Given the description of an element on the screen output the (x, y) to click on. 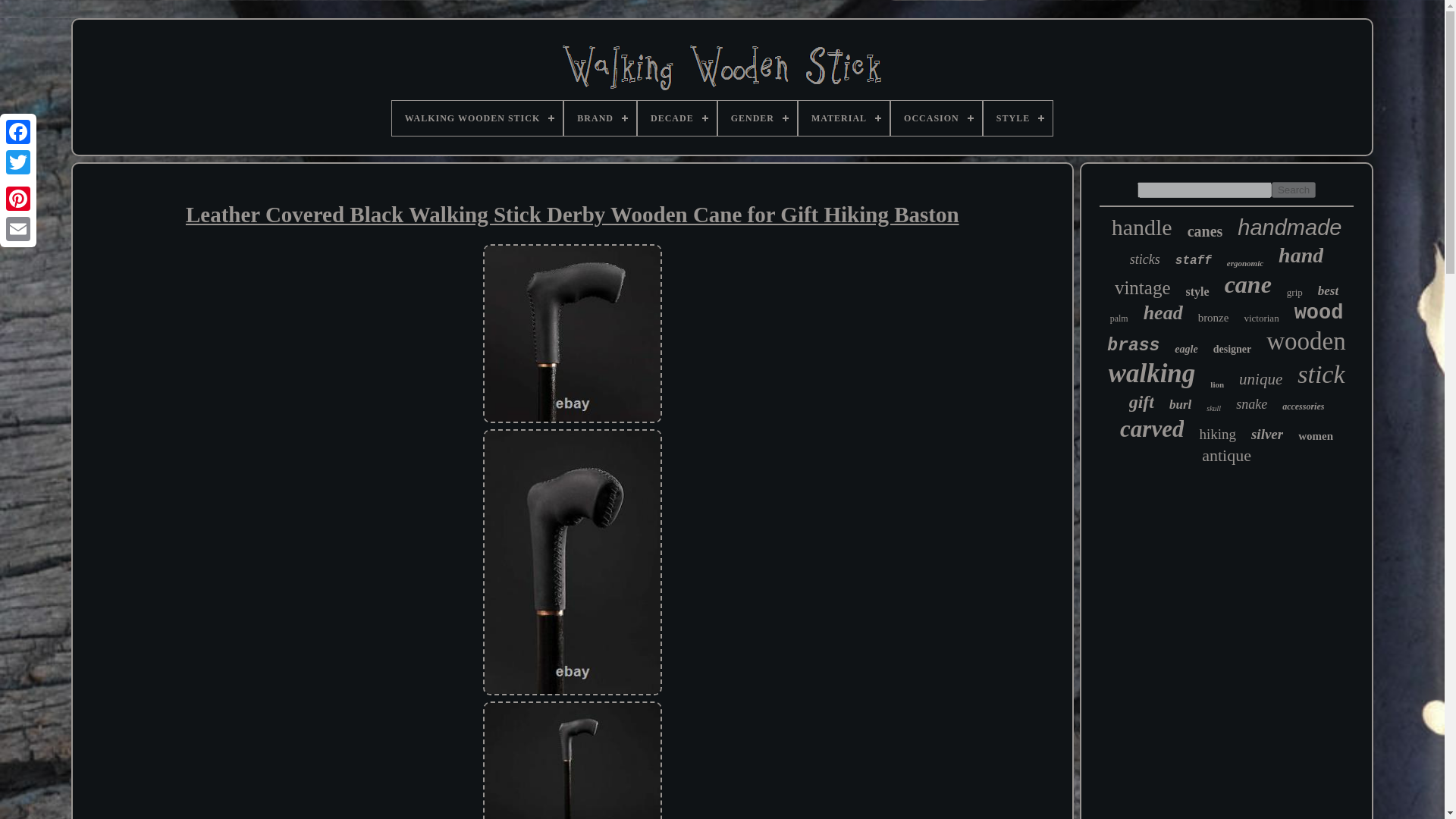
DECADE (676, 117)
WALKING WOODEN STICK (476, 117)
Pinterest (17, 198)
Search (1293, 189)
BRAND (600, 117)
